Given the description of an element on the screen output the (x, y) to click on. 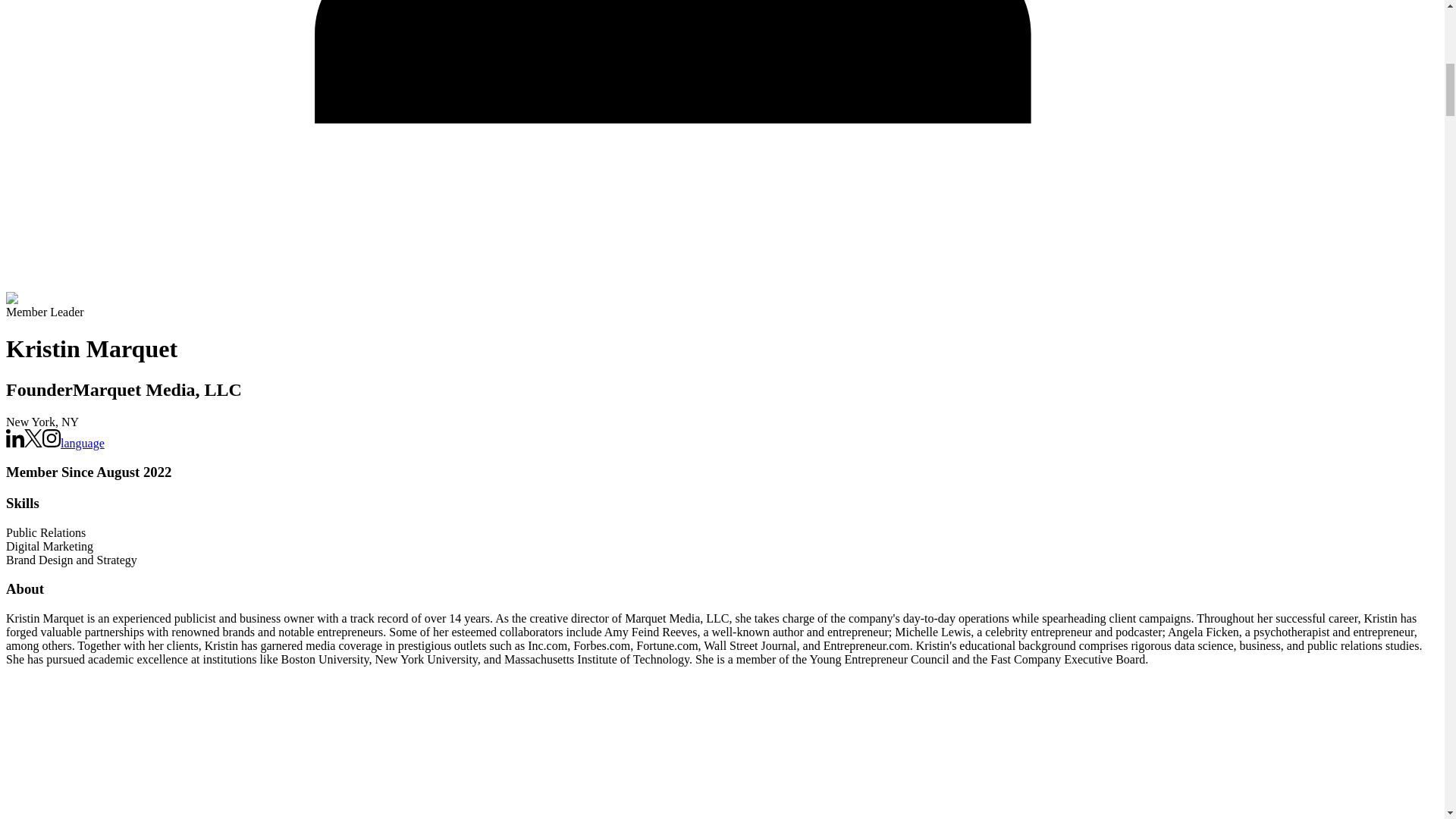
X (33, 438)
language (82, 442)
LinkedIn (14, 438)
X (33, 442)
LinkedIn (14, 442)
Instagram (51, 442)
Instagram (51, 438)
